Given the description of an element on the screen output the (x, y) to click on. 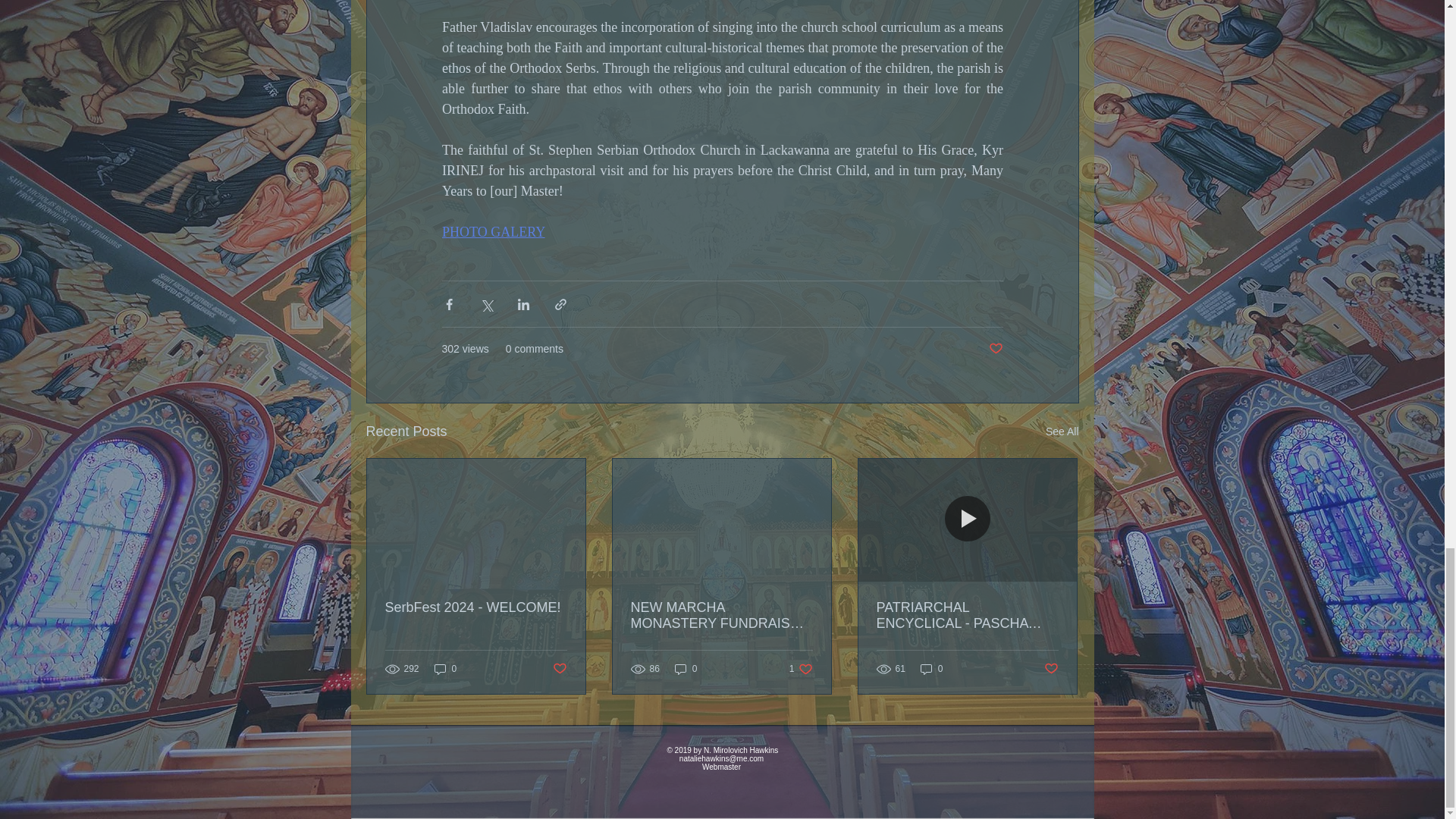
Post not marked as liked (558, 668)
PHOTO GALERY (492, 231)
Post not marked as liked (995, 349)
See All (1061, 431)
SerbFest 2024 - WELCOME! (476, 607)
0 (445, 668)
